Given the description of an element on the screen output the (x, y) to click on. 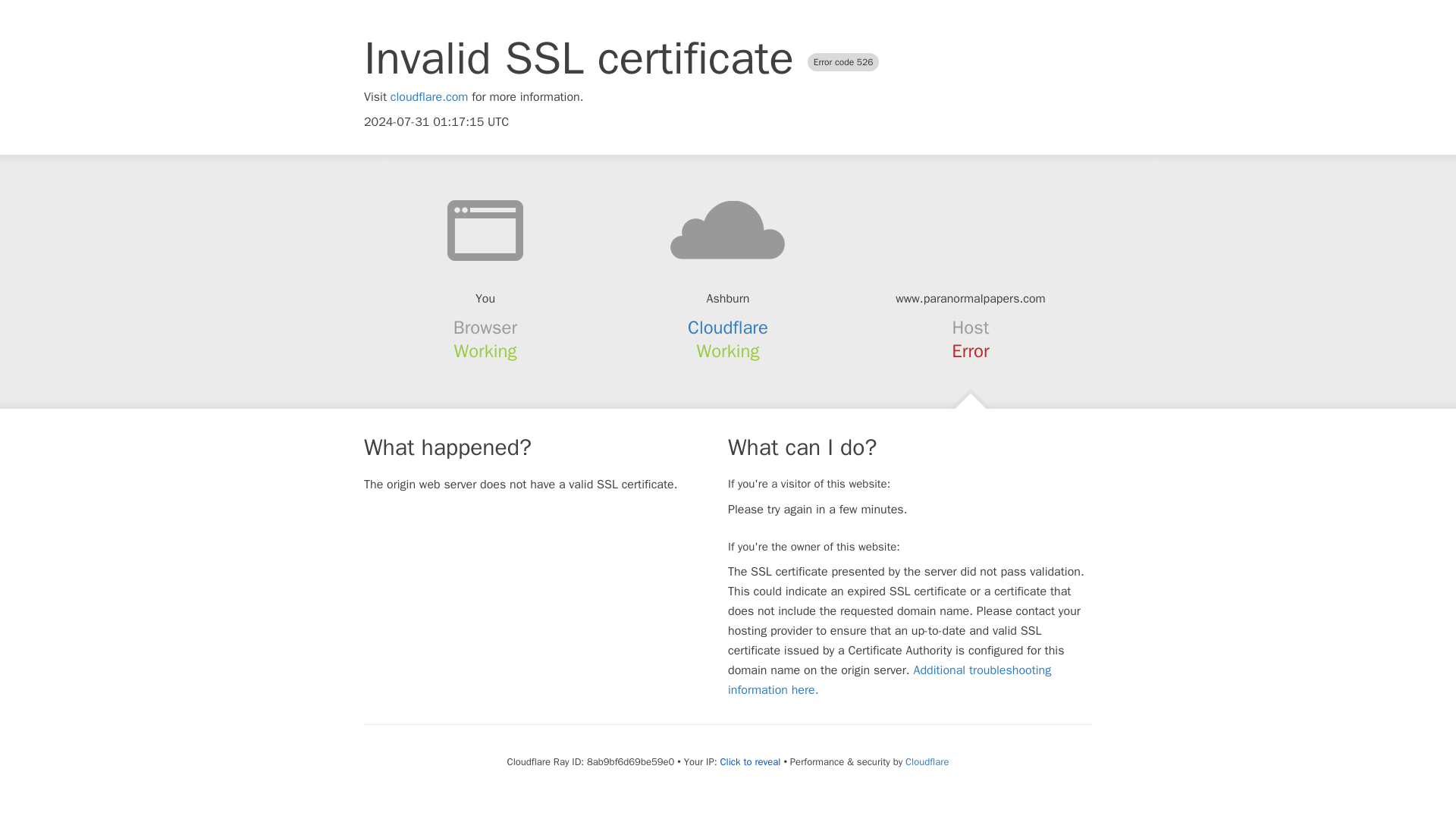
Click to reveal (750, 762)
Additional troubleshooting information here. (889, 679)
Cloudflare (727, 327)
Cloudflare (927, 761)
cloudflare.com (429, 96)
